Given the description of an element on the screen output the (x, y) to click on. 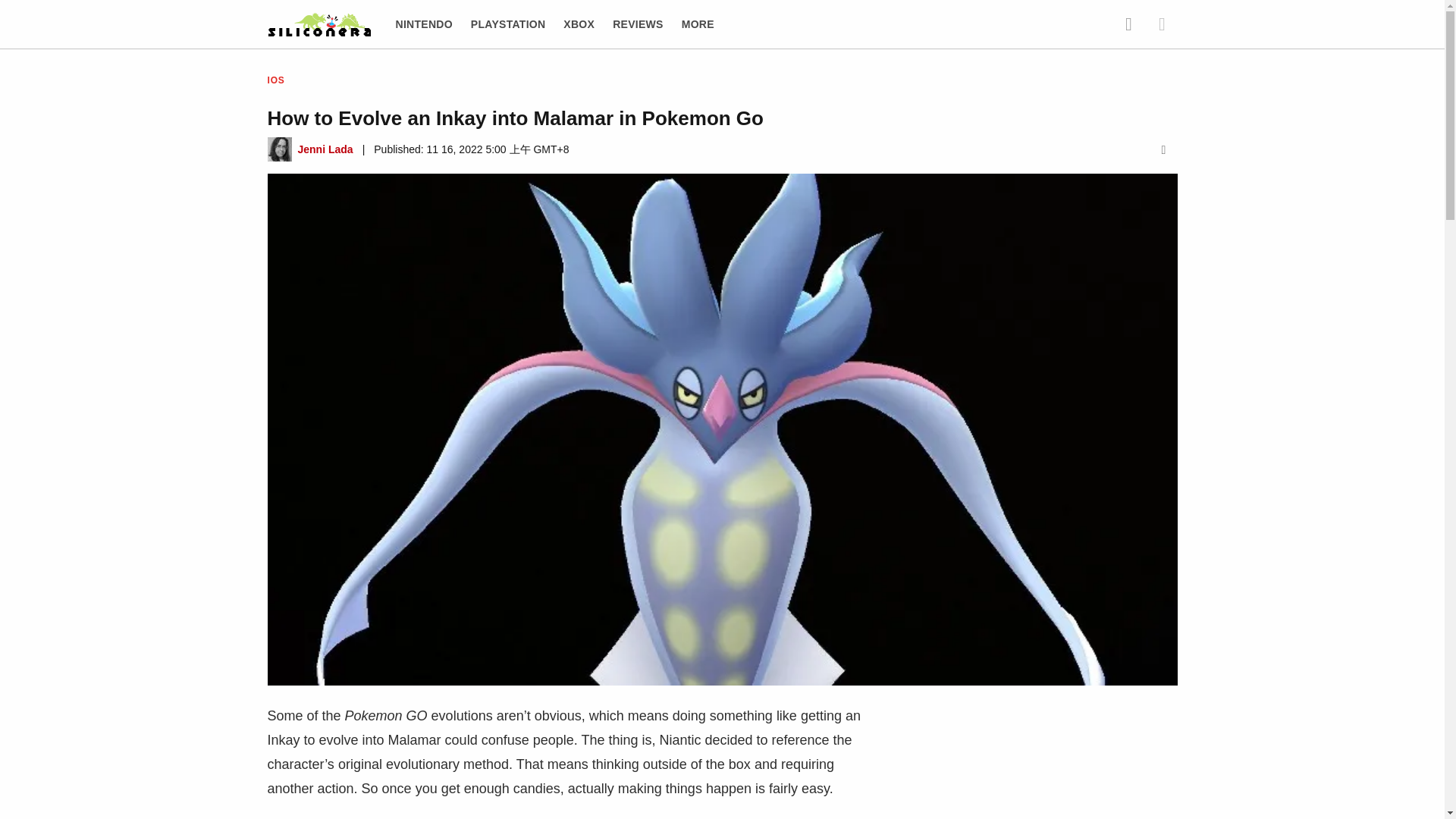
XBOX (578, 24)
Search (1127, 24)
Dark Mode (1161, 24)
NINTENDO (424, 24)
REVIEWS (637, 24)
PLAYSTATION (508, 24)
